Given the description of an element on the screen output the (x, y) to click on. 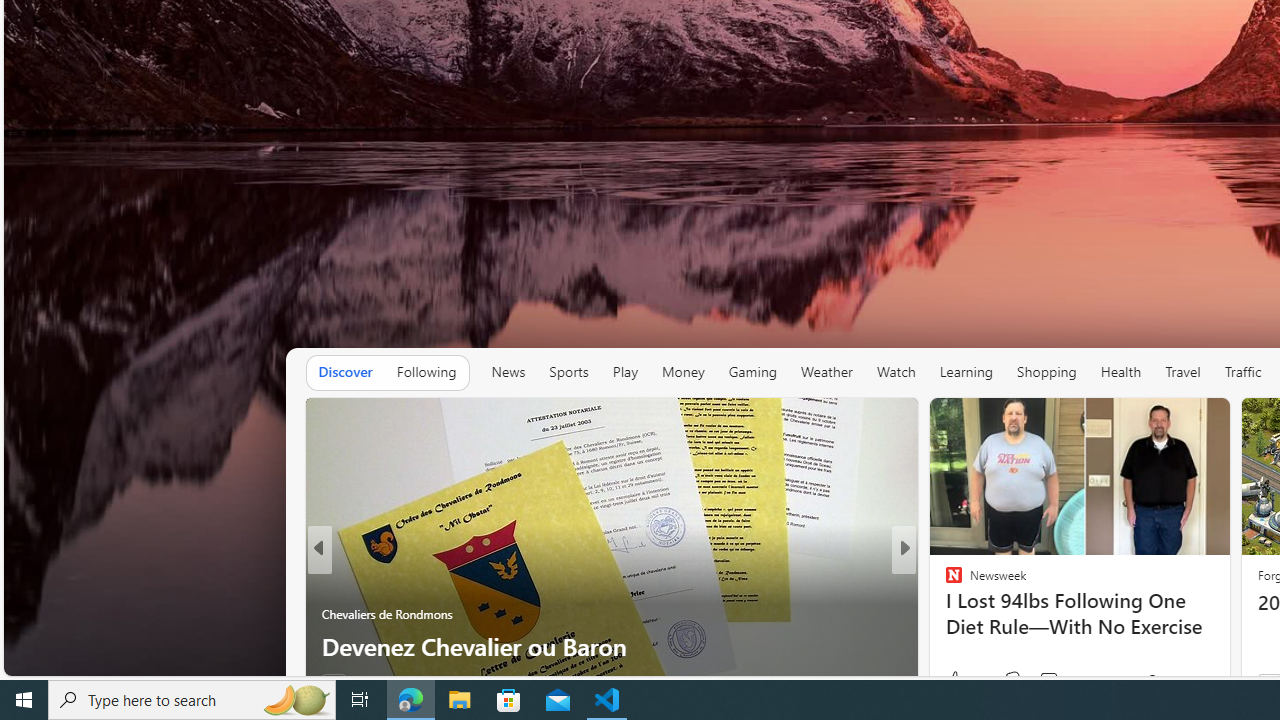
587 Like (959, 681)
Discover (345, 371)
22 Like (956, 681)
Traffic (1242, 372)
56 Like (956, 681)
View comments 18 Comment (1044, 681)
Following (426, 372)
42 Like (956, 681)
108 Like (959, 681)
Shopping (1046, 372)
Start the conversation (1035, 681)
Body Network (944, 614)
Dislike (1012, 680)
Eat This, Not That! (944, 581)
You're following Newsweek (1179, 679)
